Given the description of an element on the screen output the (x, y) to click on. 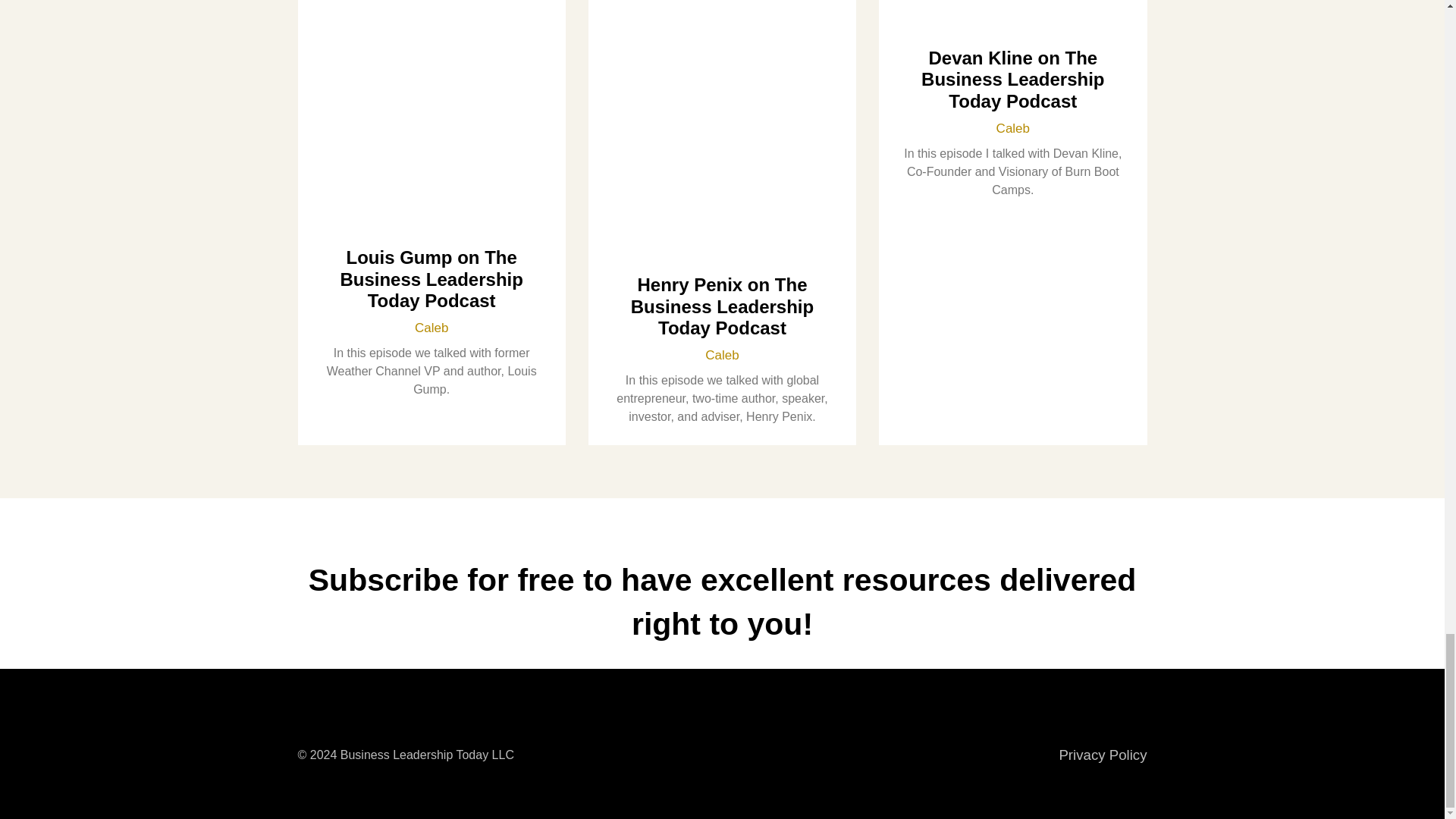
Privacy Policy (1102, 754)
Henry Penix on The Business Leadership Today Podcast (721, 306)
Devan Kline on The Business Leadership Today Podcast (1012, 79)
Louis Gump on The Business Leadership Today Podcast (430, 279)
